Given the description of an element on the screen output the (x, y) to click on. 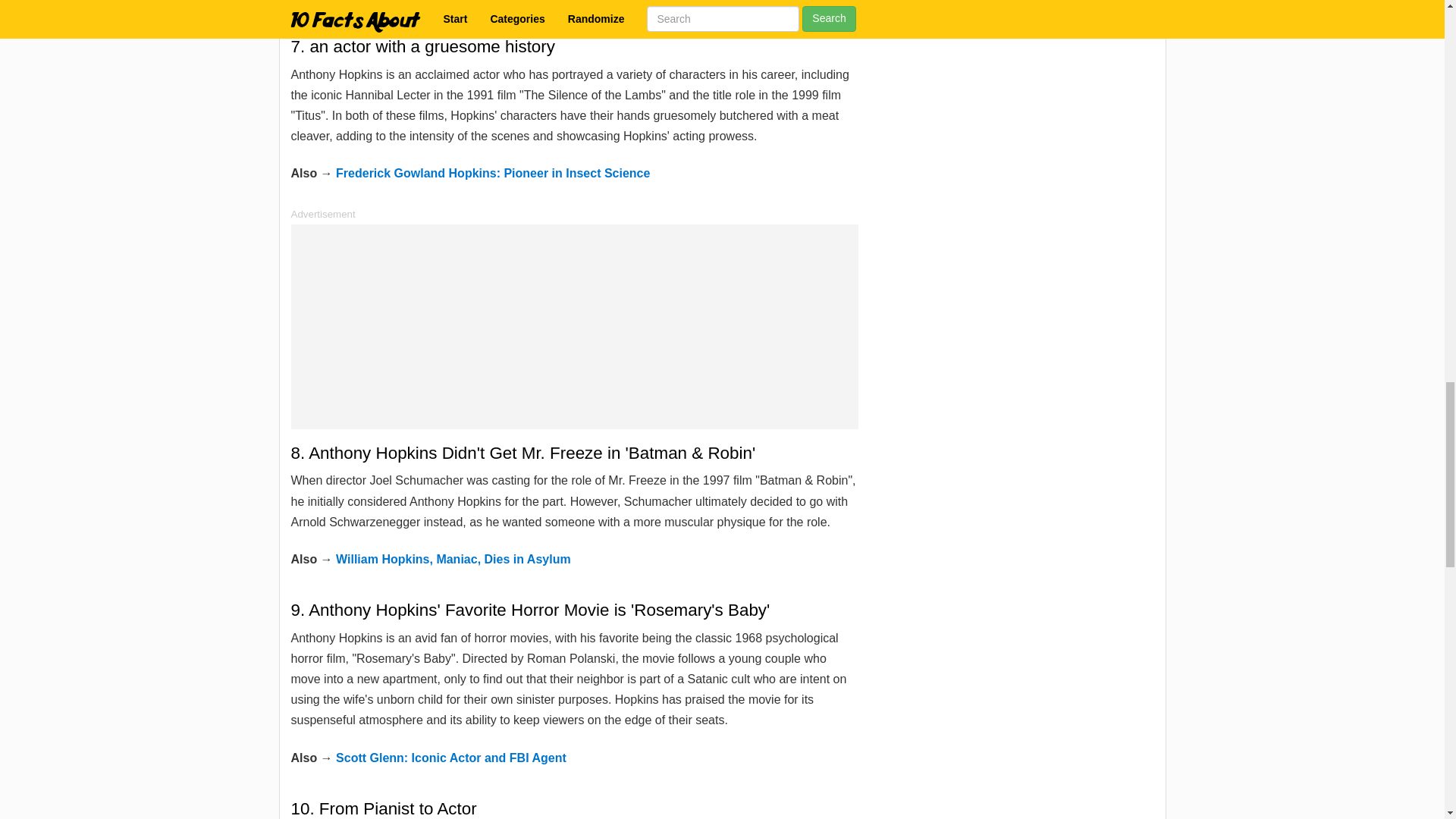
William Hopkins, Maniac, Dies in Asylum (453, 558)
Ian McKellen Passes on 'MI2' Role (434, 1)
Frederick Gowland Hopkins: Pioneer in Insect Science (492, 173)
Scott Glenn: Iconic Actor and FBI Agent (451, 757)
